Given the description of an element on the screen output the (x, y) to click on. 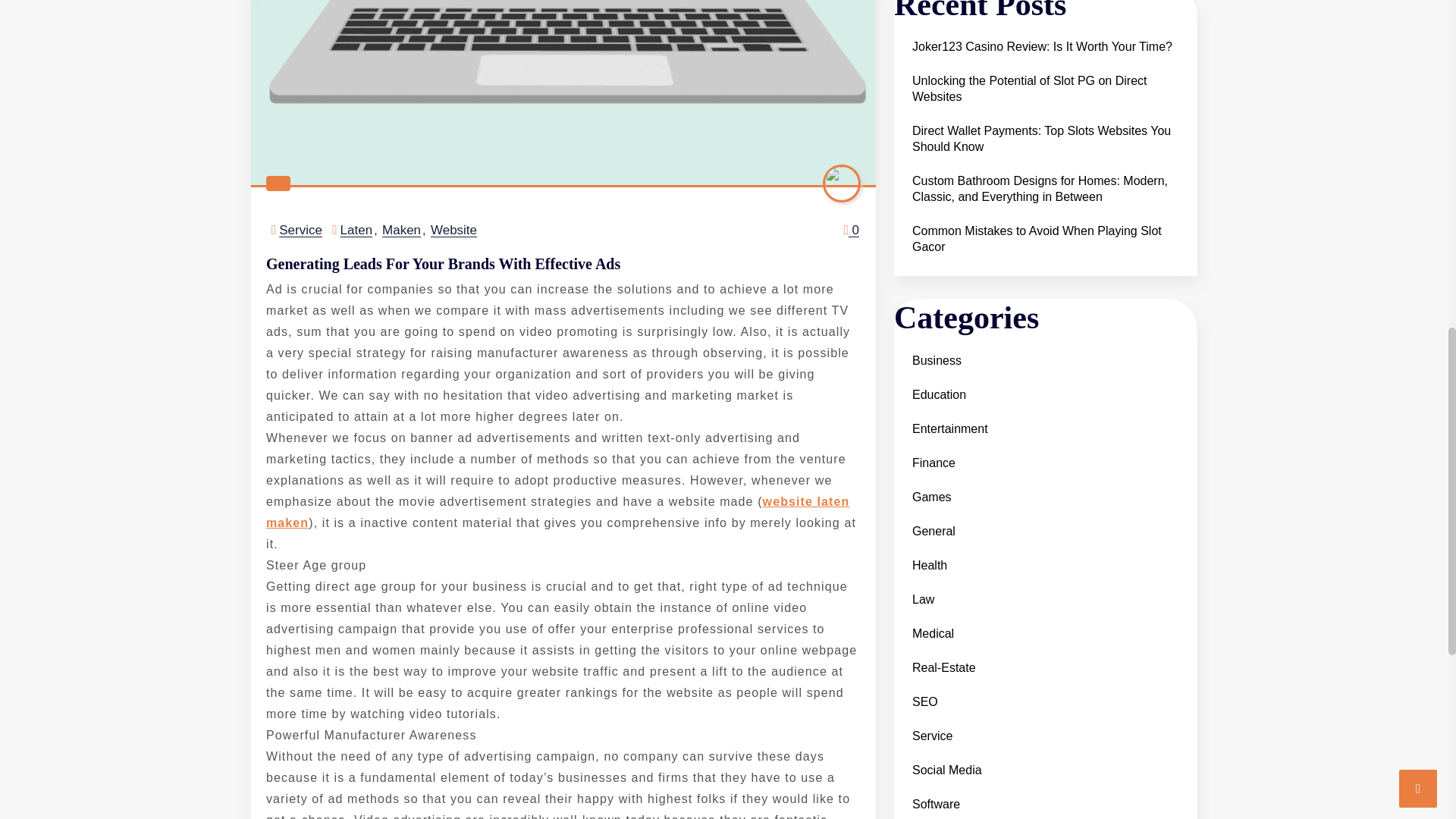
Finance (933, 116)
Service (300, 229)
Business (935, 13)
Entertainment (949, 81)
website laten maken (557, 512)
Games (931, 150)
Maken (400, 229)
Education (938, 48)
Website (453, 229)
Laten (356, 229)
